Given the description of an element on the screen output the (x, y) to click on. 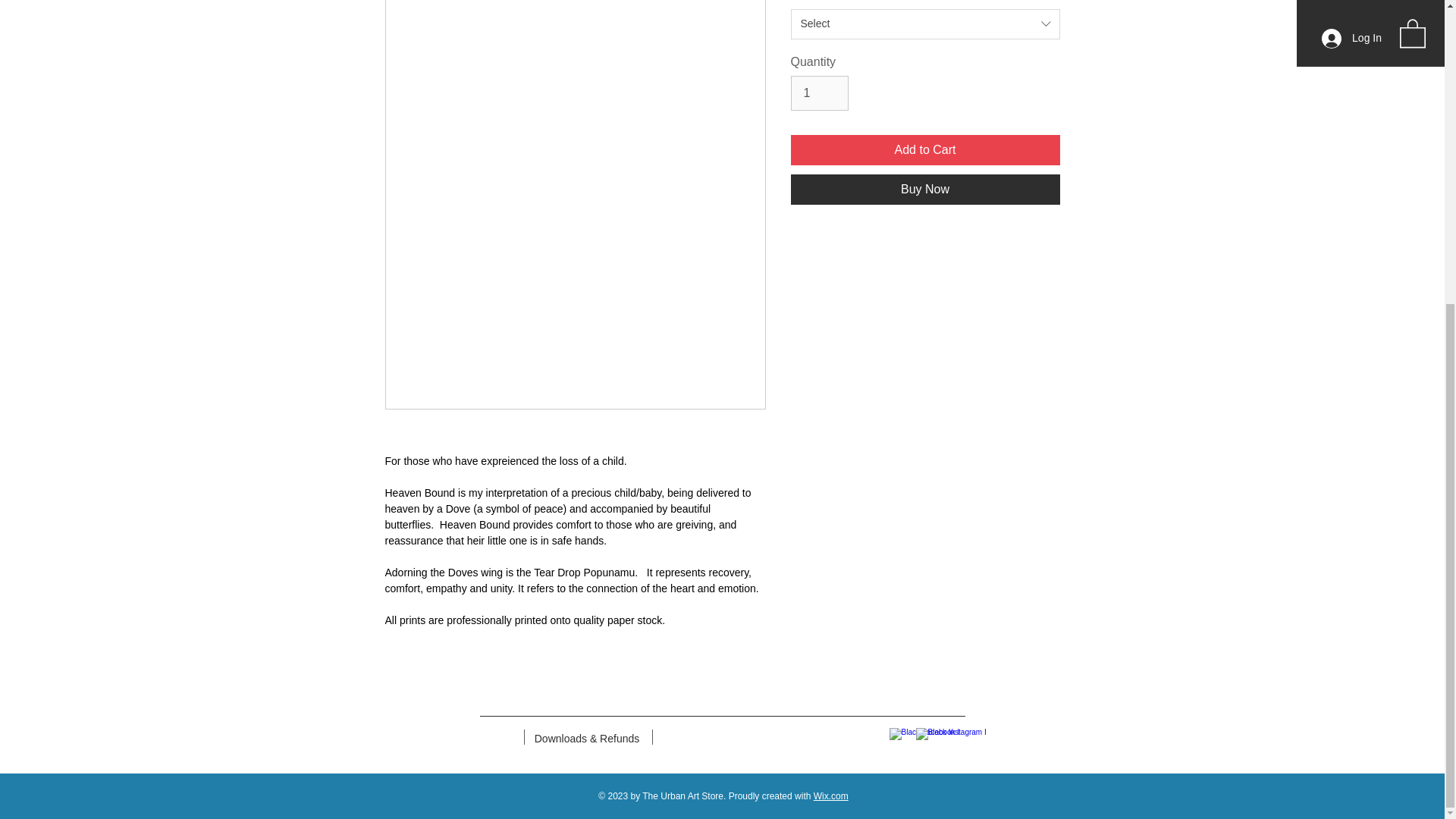
Add to Cart (924, 150)
Buy Now (924, 189)
Select (924, 24)
1 (818, 93)
Wix.com (830, 796)
